Given the description of an element on the screen output the (x, y) to click on. 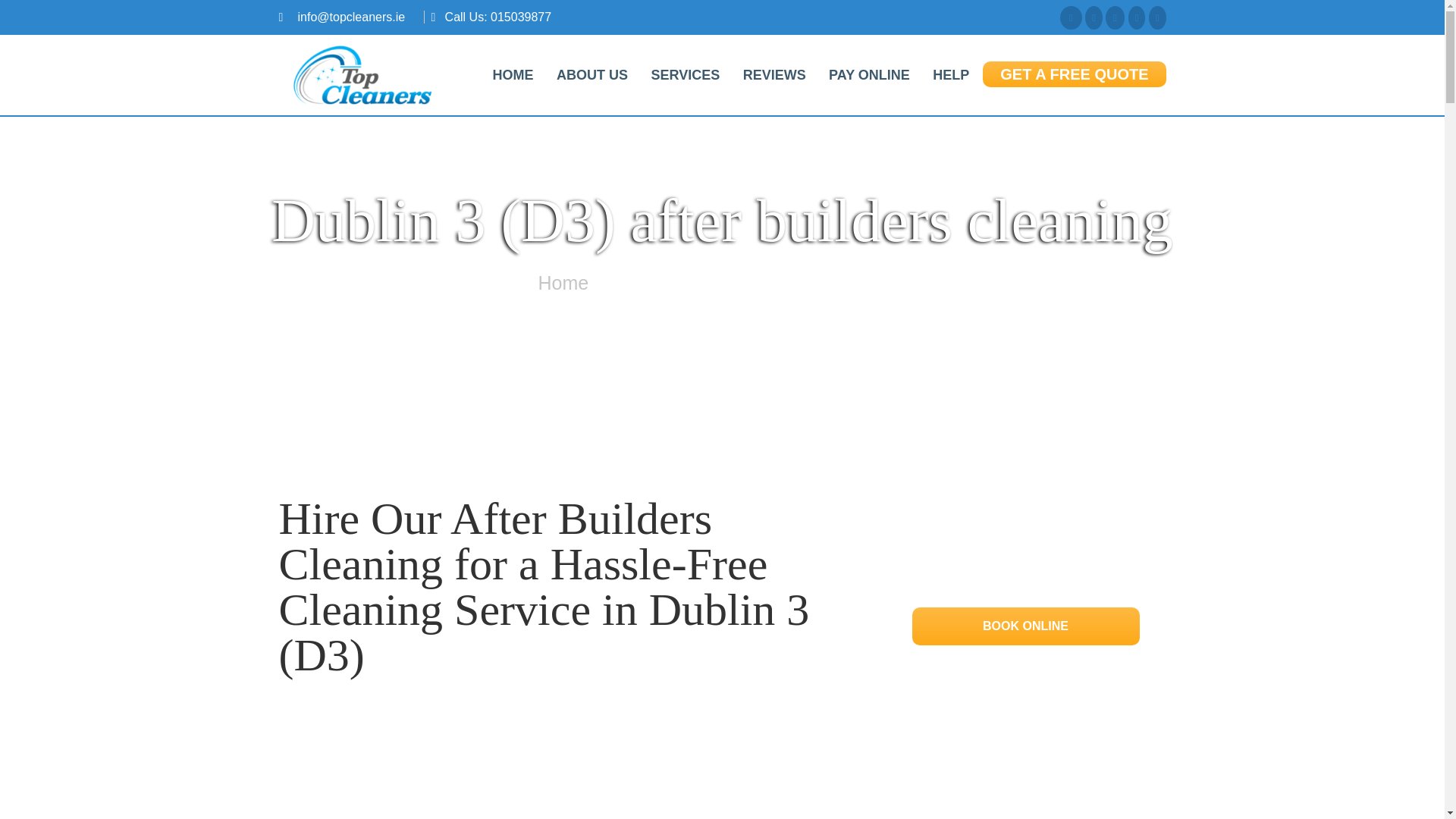
ABOUT US (592, 74)
GET A FREE QUOTE (1074, 73)
PAY ONLINE (869, 74)
BOOK ONLINE (1025, 625)
HELP (950, 74)
Call Us: 015039877 (498, 16)
Home (563, 282)
HOME (513, 74)
SERVICES (684, 74)
